Given the description of an element on the screen output the (x, y) to click on. 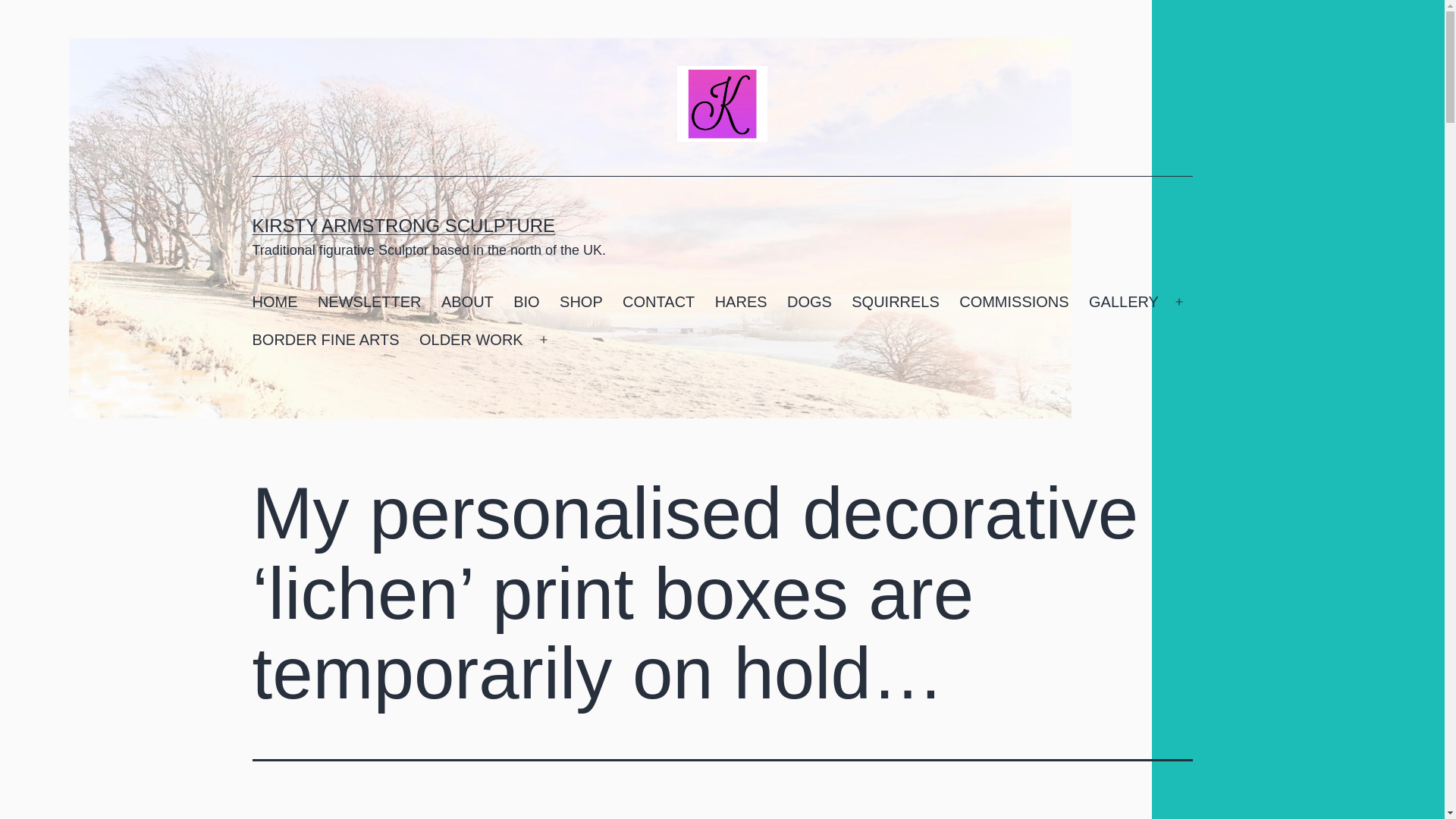
A gallery of work by Kirsty Armstrong Sculpture (1123, 301)
SQUIRRELS (895, 301)
DOGS (809, 301)
OLDER WORK (470, 340)
Kirsty Armstrong Sculpture commissions  (1013, 301)
Red Squirrel Sculptures by Kirsty Armstrong (895, 301)
GALLERY (1123, 301)
BORDER FINE ARTS (325, 340)
NEWSLETTER (368, 301)
Just Kirsty Sculpture and Gifts Shop (581, 301)
CONTACT (658, 301)
BIO (526, 301)
HOME (274, 301)
Kirsty Armstrong Biography (526, 301)
HARES (740, 301)
